Given the description of an element on the screen output the (x, y) to click on. 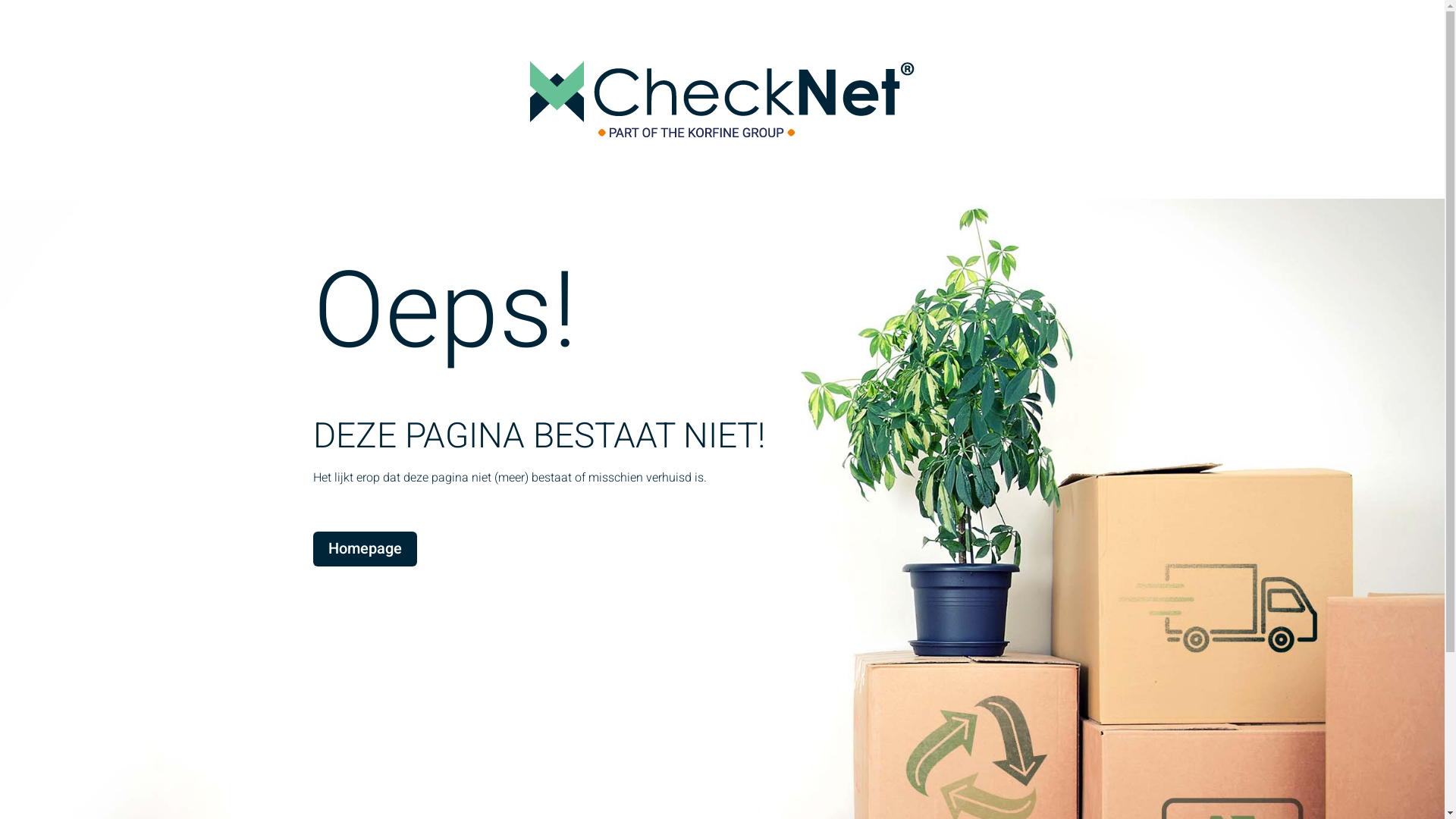
checknet_h100 Element type: hover (722, 99)
Homepage Element type: text (364, 548)
